Given the description of an element on the screen output the (x, y) to click on. 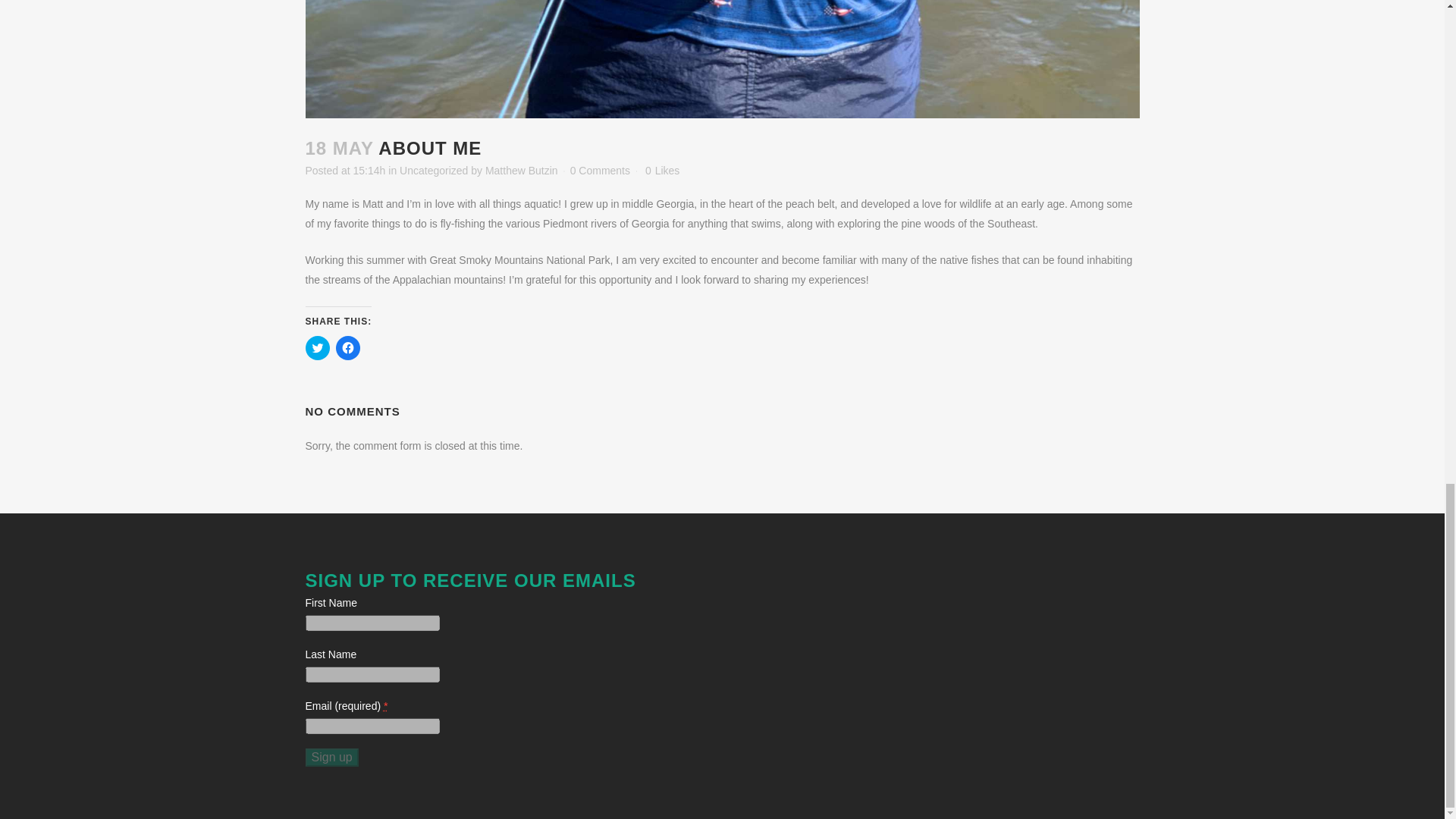
Sign up (331, 757)
Click to share on Twitter (316, 347)
Click to share on Facebook (346, 347)
Like this (662, 170)
